Given the description of an element on the screen output the (x, y) to click on. 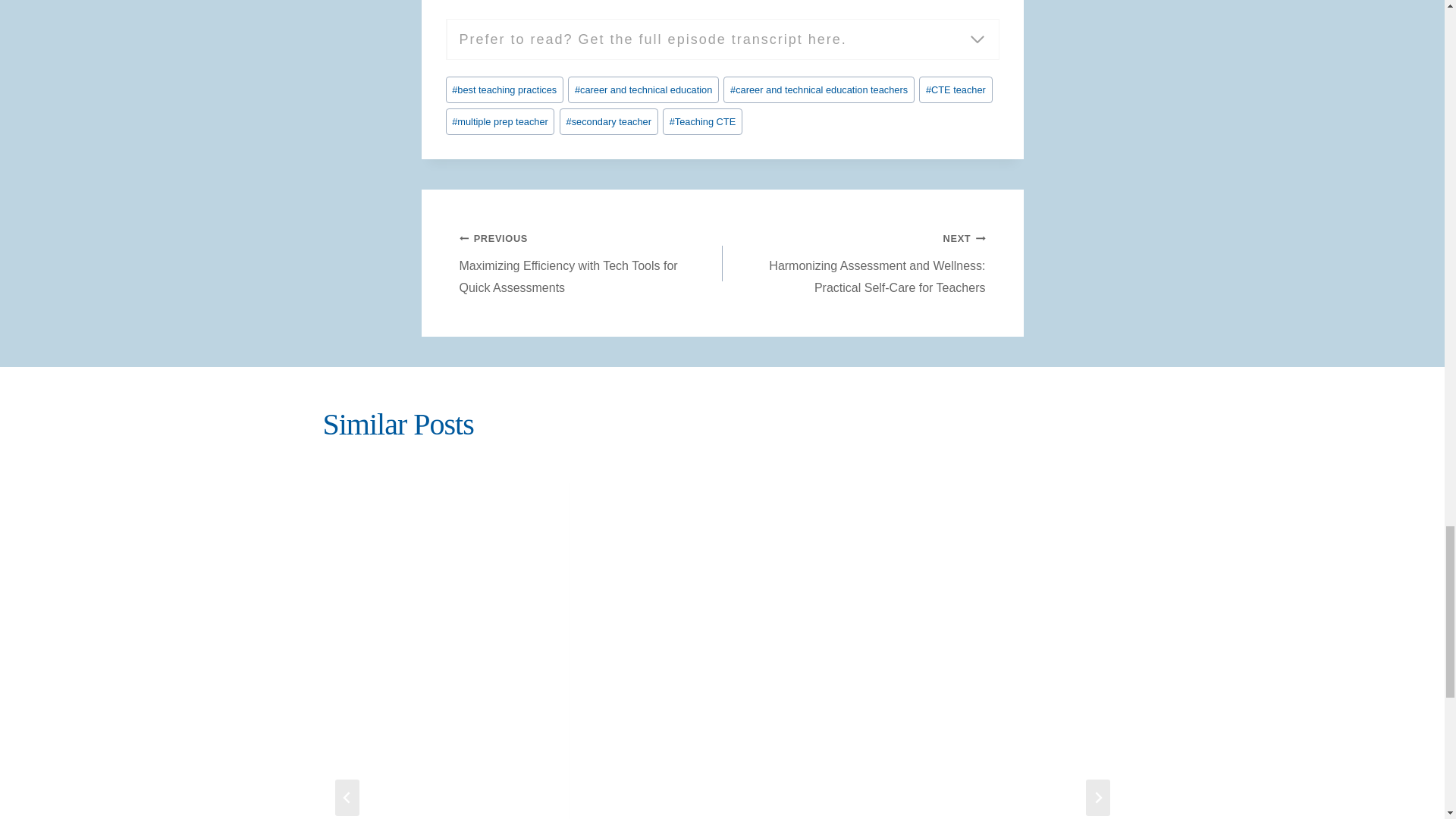
best teaching practices (504, 89)
Teaching CTE (702, 121)
CTE teacher (954, 89)
secondary teacher (608, 121)
career and technical education teachers (818, 89)
multiple prep teacher (499, 121)
career and technical education (643, 89)
Prefer to read? Get the full episode transcript here. (721, 38)
